Given the description of an element on the screen output the (x, y) to click on. 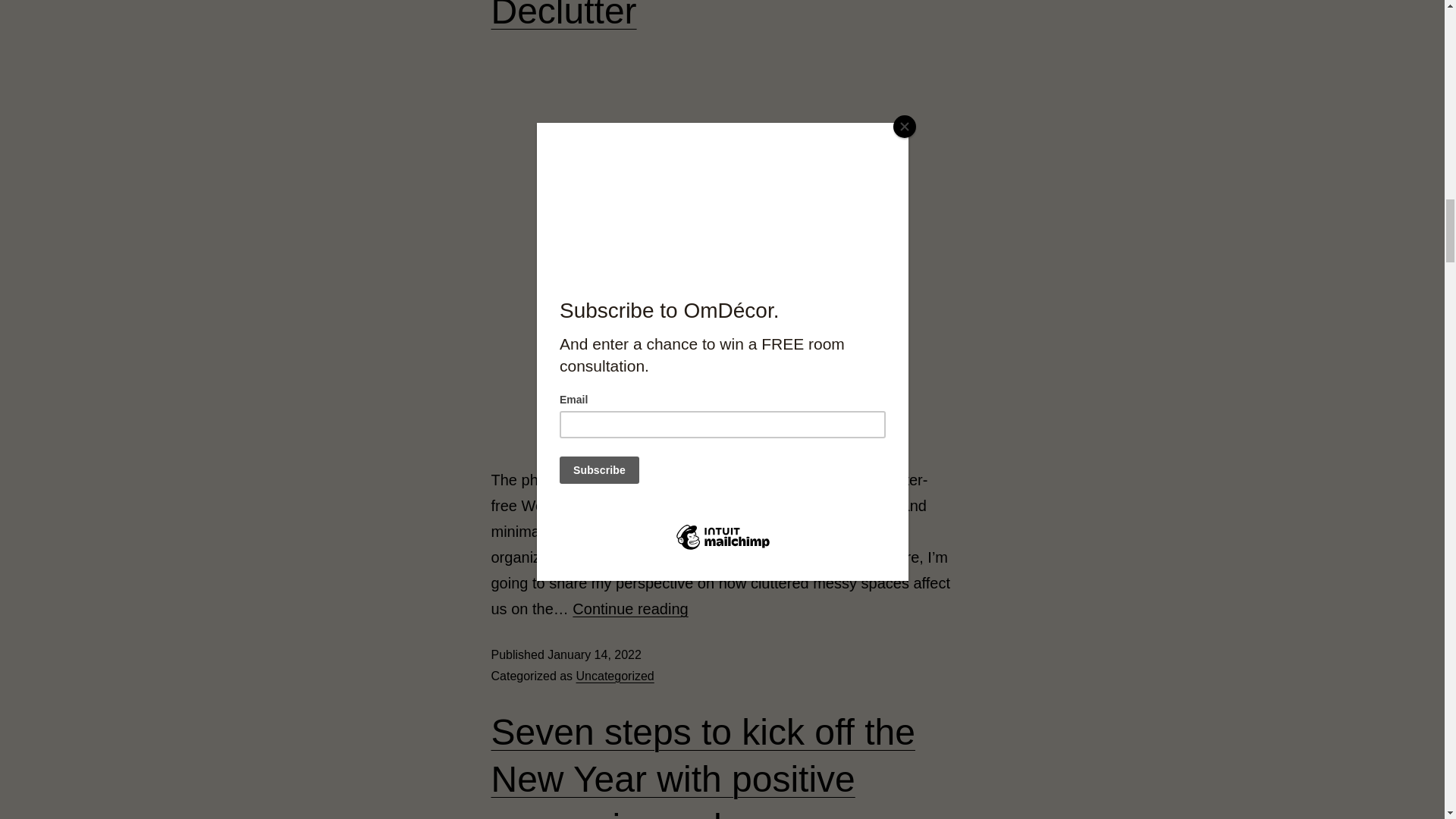
Continue reading (629, 608)
Home Organization and Declutter (684, 15)
Uncategorized (614, 675)
